Given the description of an element on the screen output the (x, y) to click on. 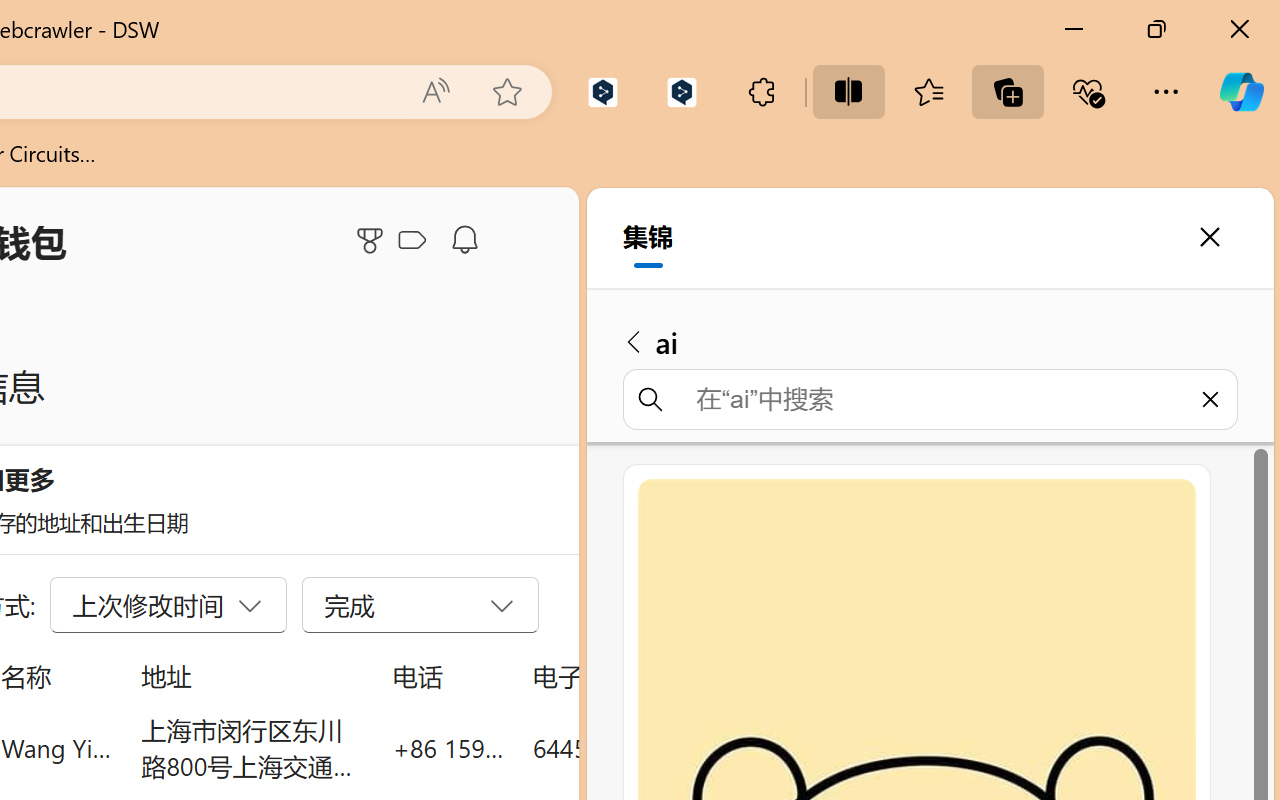
644553698@qq.com (644, 747)
Microsoft Cashback (415, 241)
Microsoft Rewards (373, 240)
Copilot (Ctrl+Shift+.) (1241, 91)
Class: ___1lmltc5 f1agt3bx f12qytpq (411, 241)
